Given the description of an element on the screen output the (x, y) to click on. 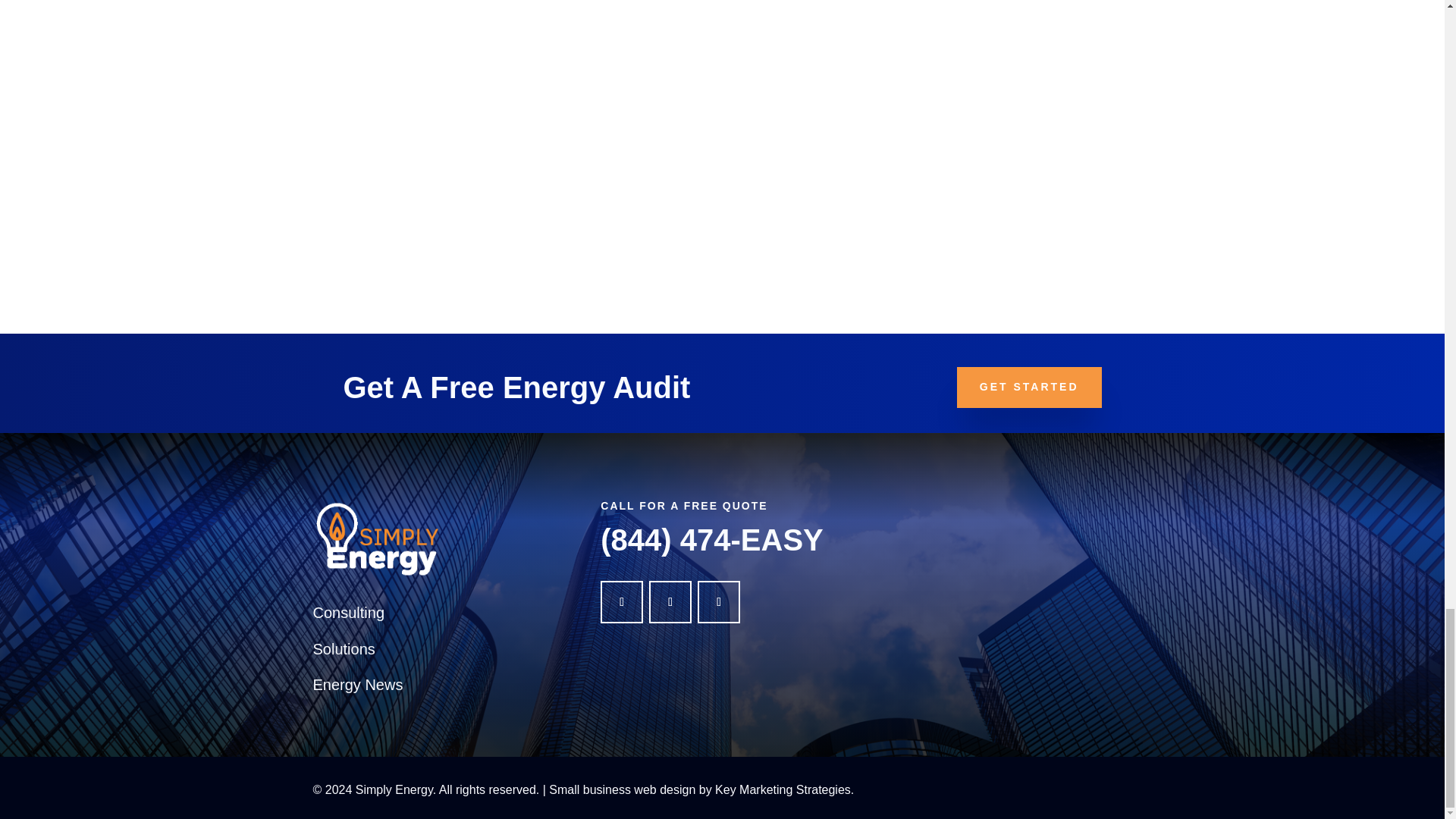
Follow on Instagram (718, 600)
Follow on Facebook (621, 600)
Solutions (343, 648)
Consulting (348, 612)
GET STARTED (1029, 386)
Follow on X (670, 600)
